Given the description of an element on the screen output the (x, y) to click on. 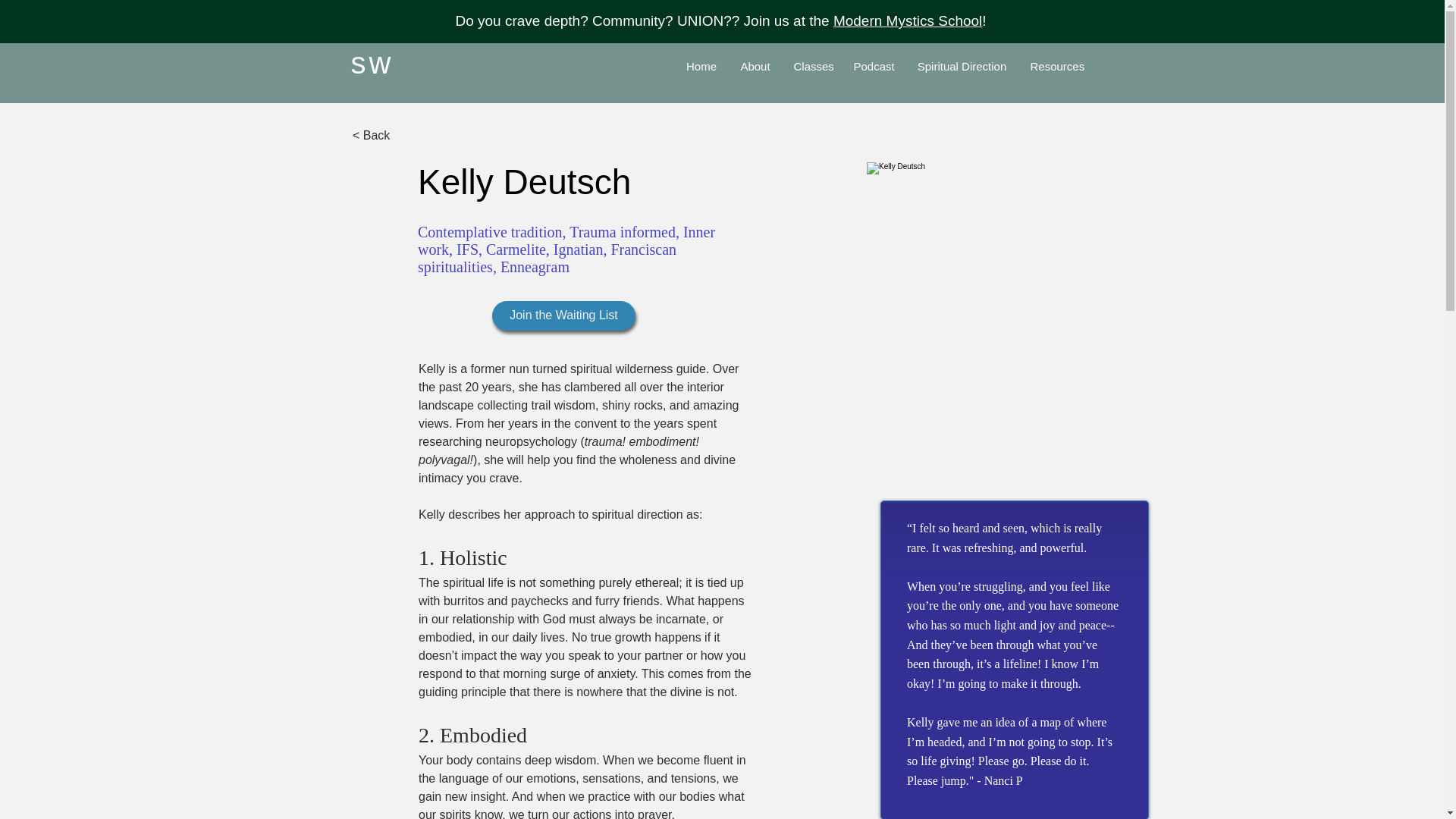
Join the Waiting List (563, 315)
Home (702, 66)
sw (371, 62)
Podcast (872, 66)
About (754, 66)
Spiritual Direction (962, 66)
Modern Mystics School (906, 20)
